Given the description of an element on the screen output the (x, y) to click on. 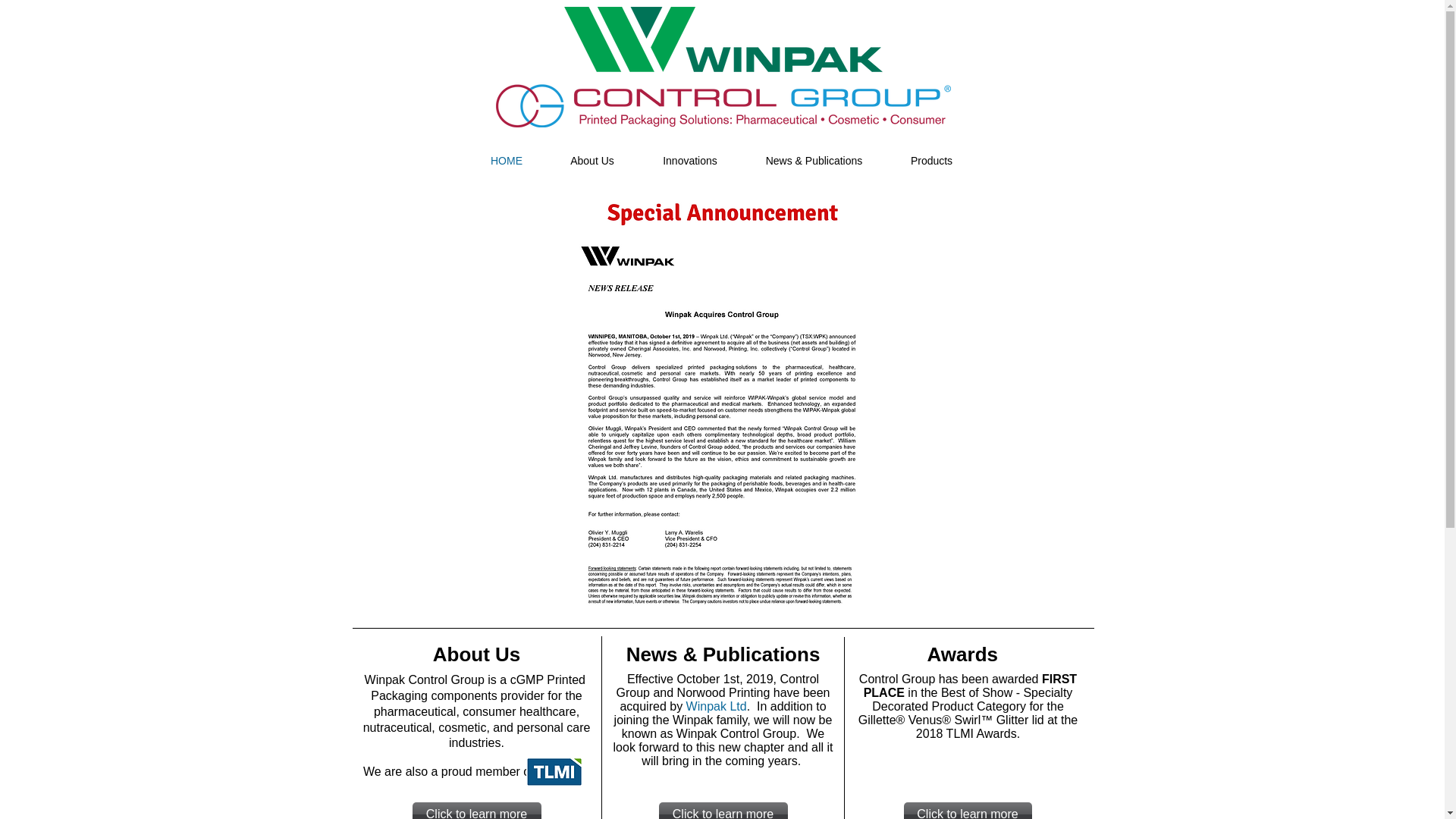
Winpak Ltd (715, 706)
Click to learn more (968, 810)
HOME (507, 160)
Click to learn more (476, 810)
Click to learn more (722, 810)
